Given the description of an element on the screen output the (x, y) to click on. 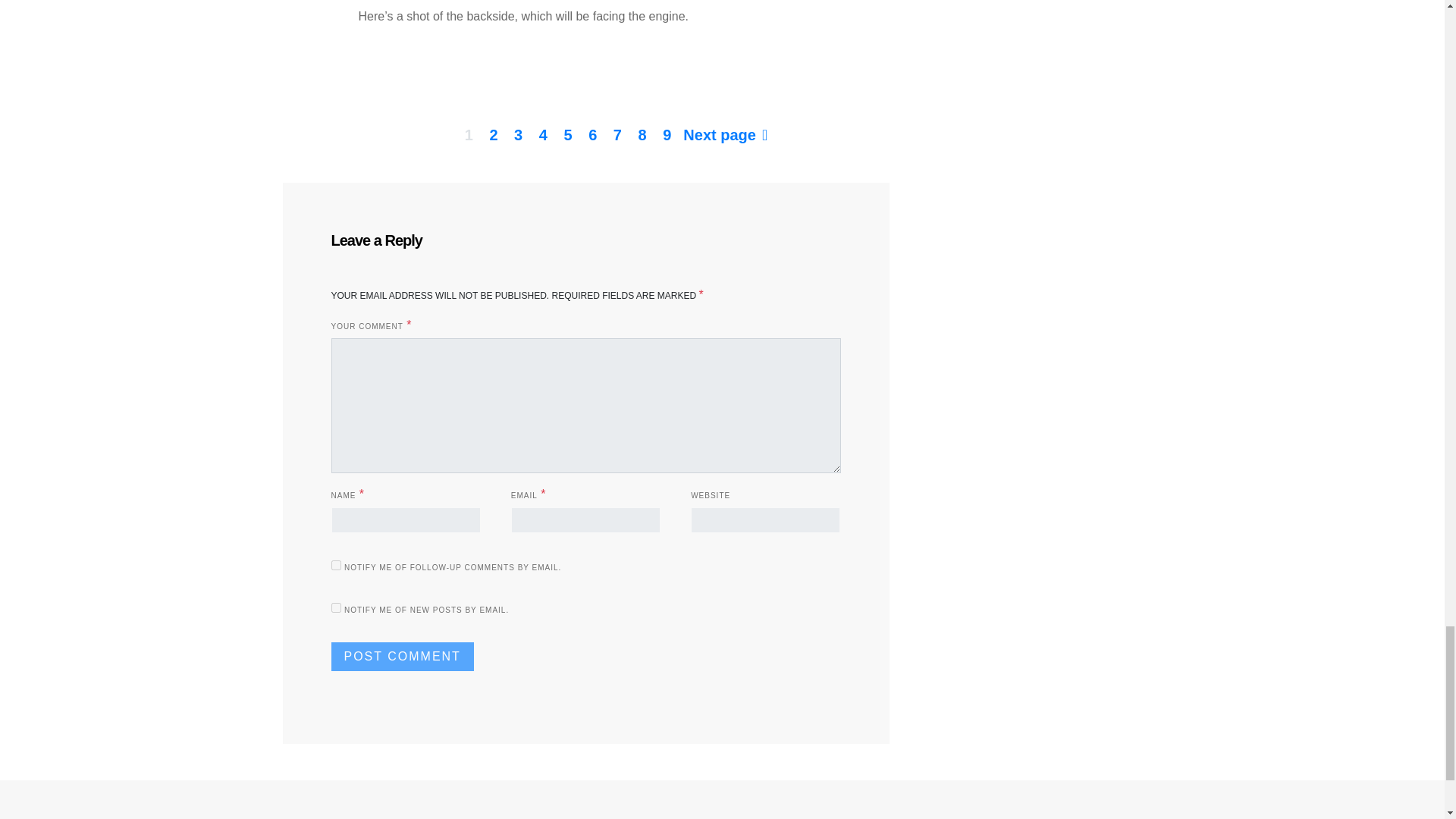
subscribe (335, 607)
Post Comment (401, 656)
subscribe (335, 565)
